Given the description of an element on the screen output the (x, y) to click on. 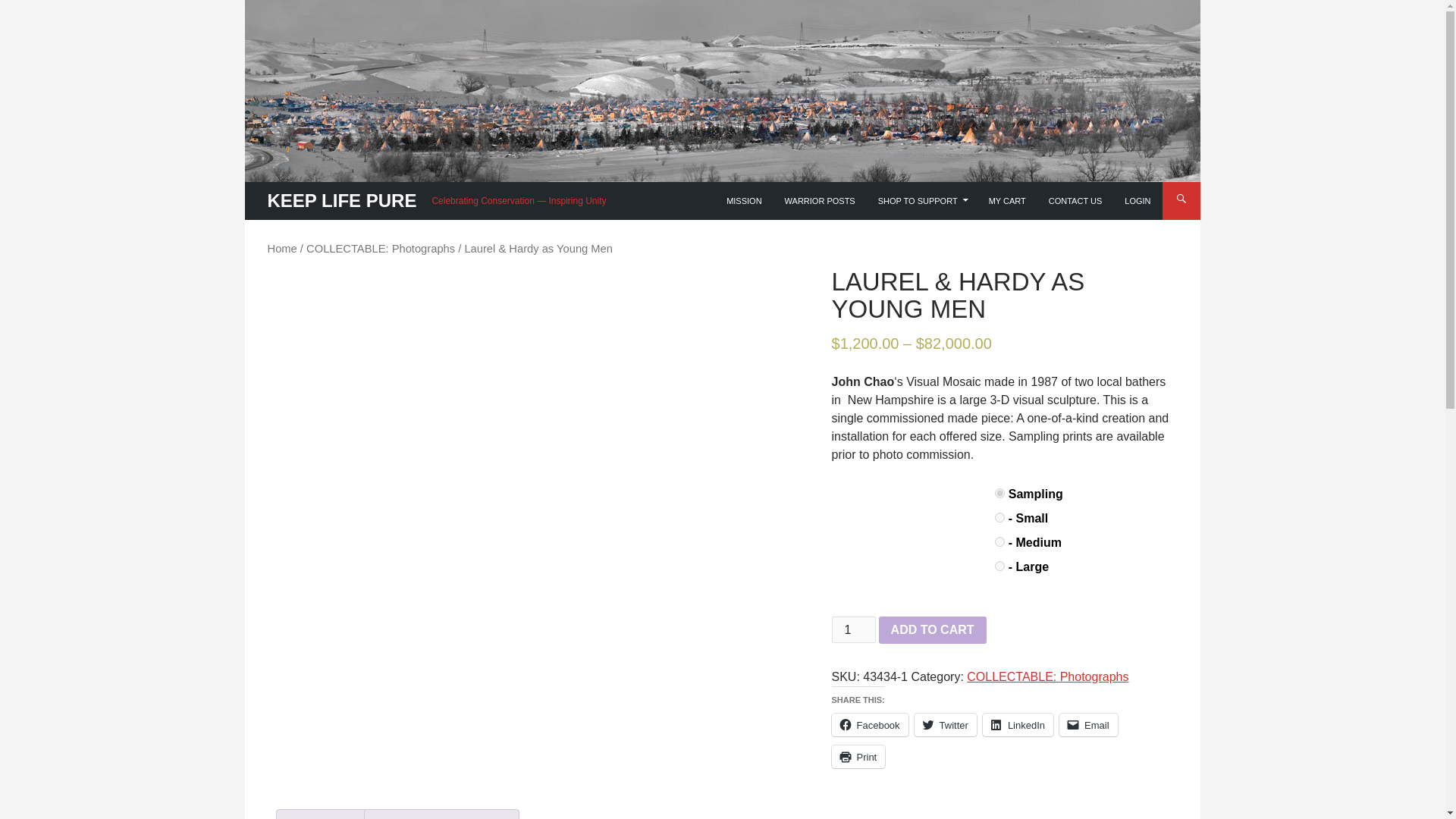
COLLECTABLE: Photographs (1047, 676)
ADD TO CART (933, 629)
SHOP TO SUPPORT (921, 200)
Click to print (858, 756)
Email (1088, 724)
Print (858, 756)
LinkedIn (1017, 724)
MISSION (743, 200)
Description (321, 814)
